Given the description of an element on the screen output the (x, y) to click on. 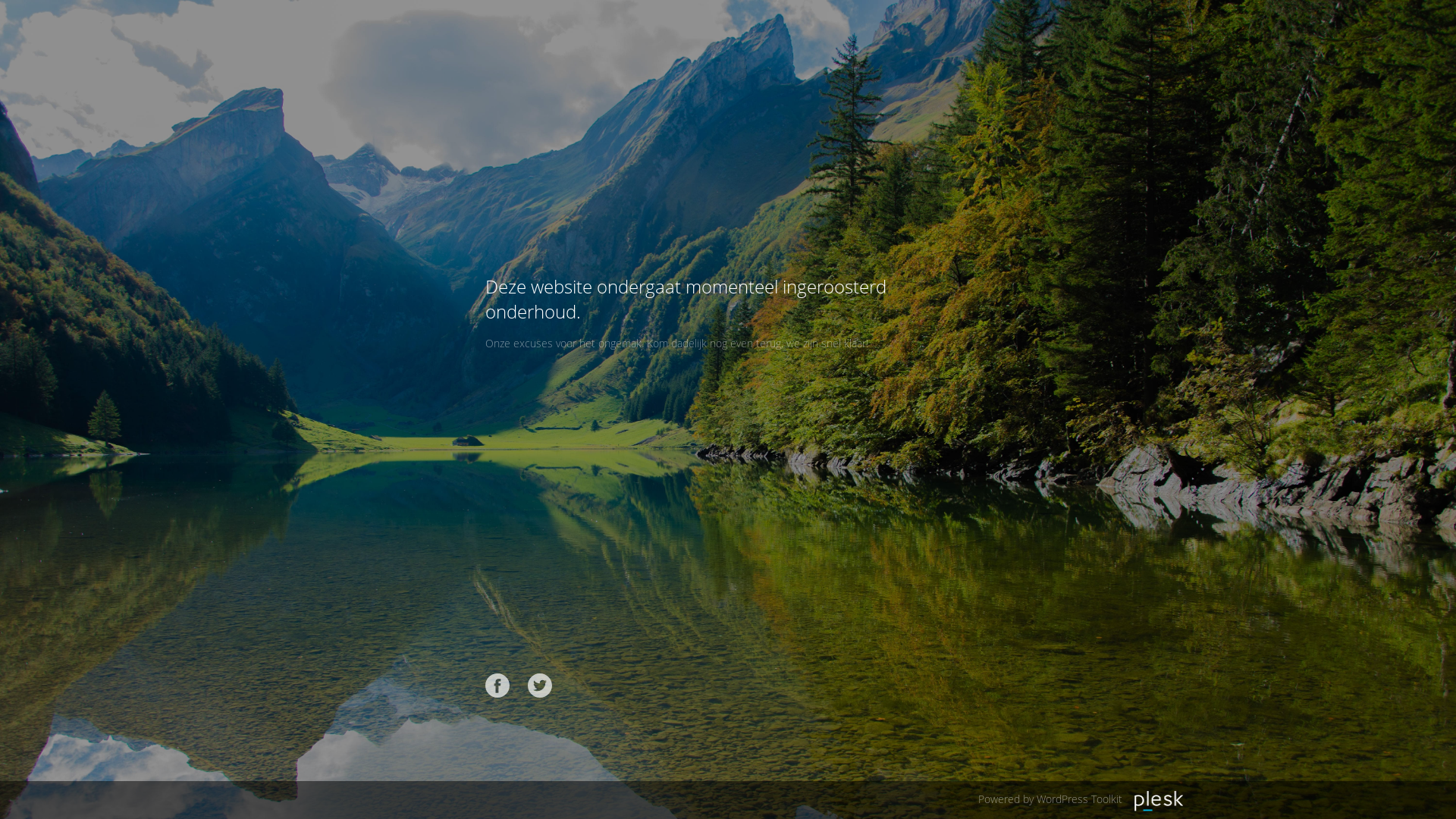
Facebook Element type: hover (497, 685)
Twitter Element type: hover (539, 685)
